Given the description of an element on the screen output the (x, y) to click on. 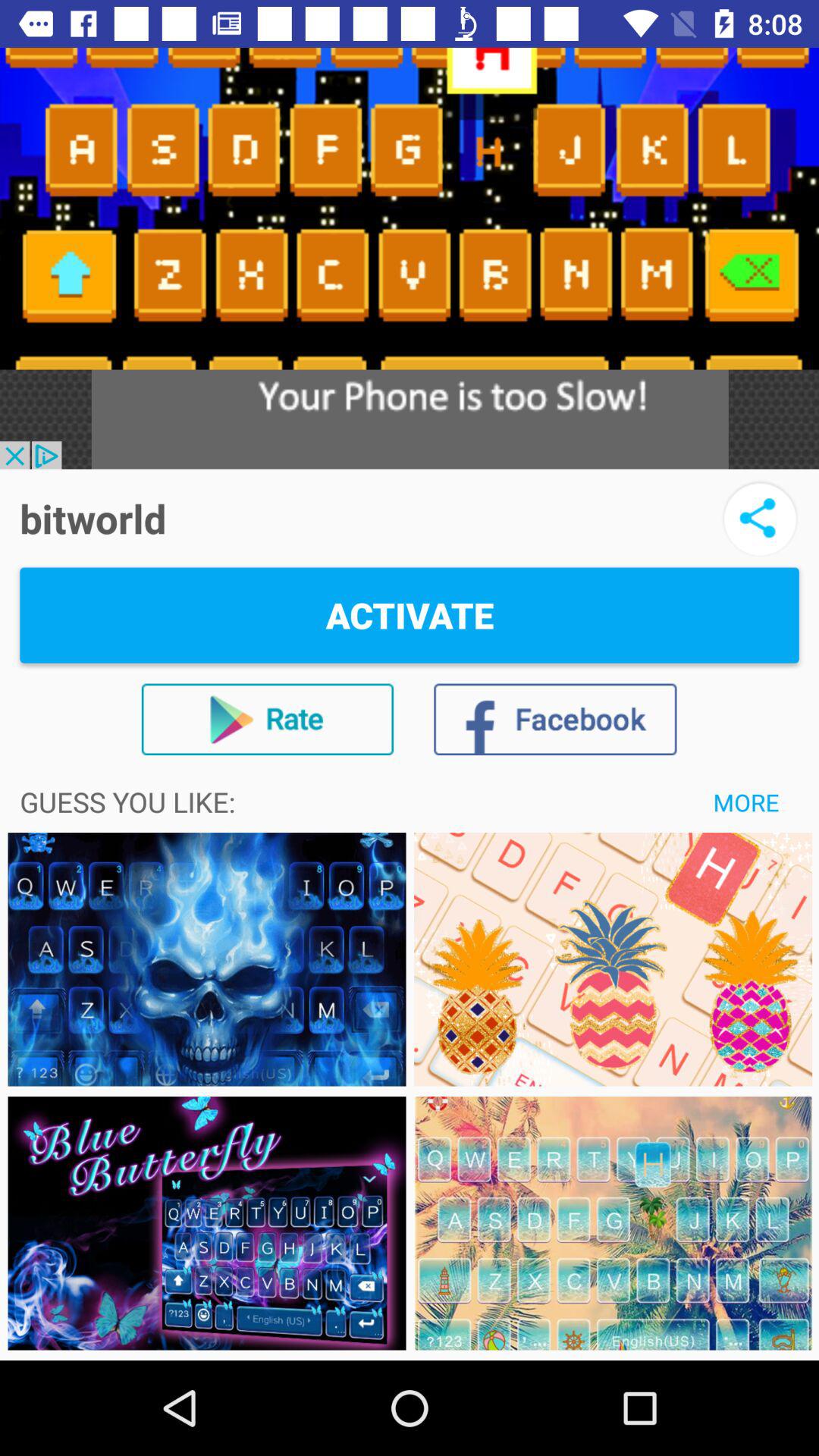
turn on item above guess you like: (267, 719)
